Given the description of an element on the screen output the (x, y) to click on. 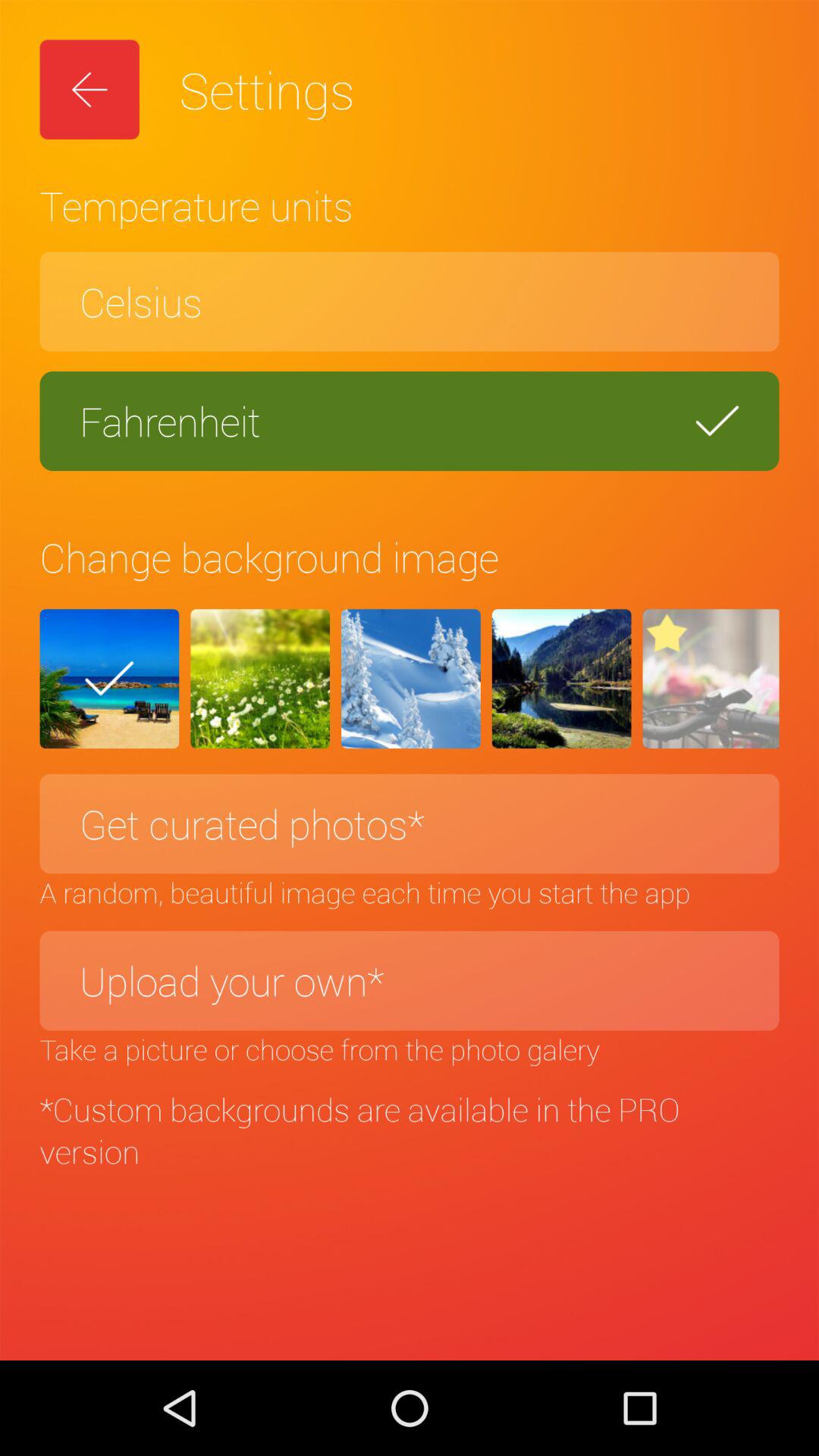
flip to fahrenheit item (409, 420)
